Given the description of an element on the screen output the (x, y) to click on. 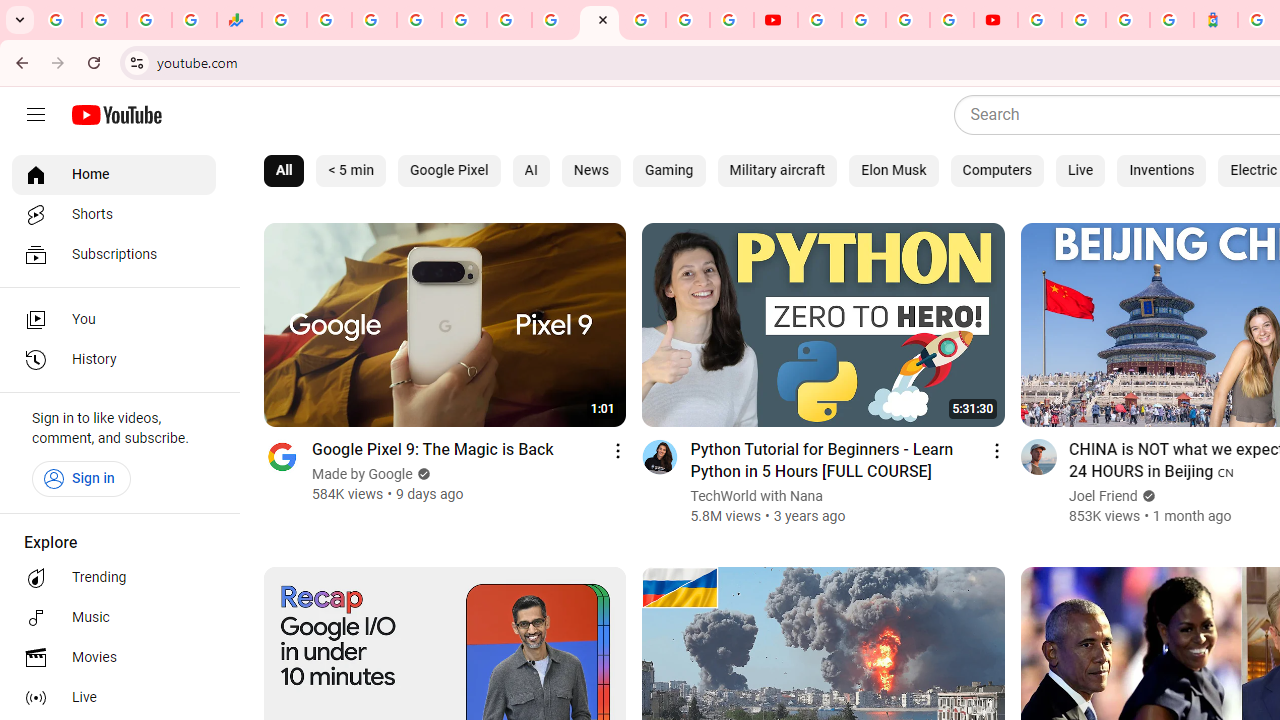
Google Account Help (863, 20)
Inventions (1162, 170)
Google Workspace Admin Community (59, 20)
YouTube (599, 20)
Guide (35, 115)
Sign in - Google Accounts (418, 20)
Content Creator Programs & Opportunities - YouTube Creators (995, 20)
All (283, 170)
Trending (113, 578)
